Given the description of an element on the screen output the (x, y) to click on. 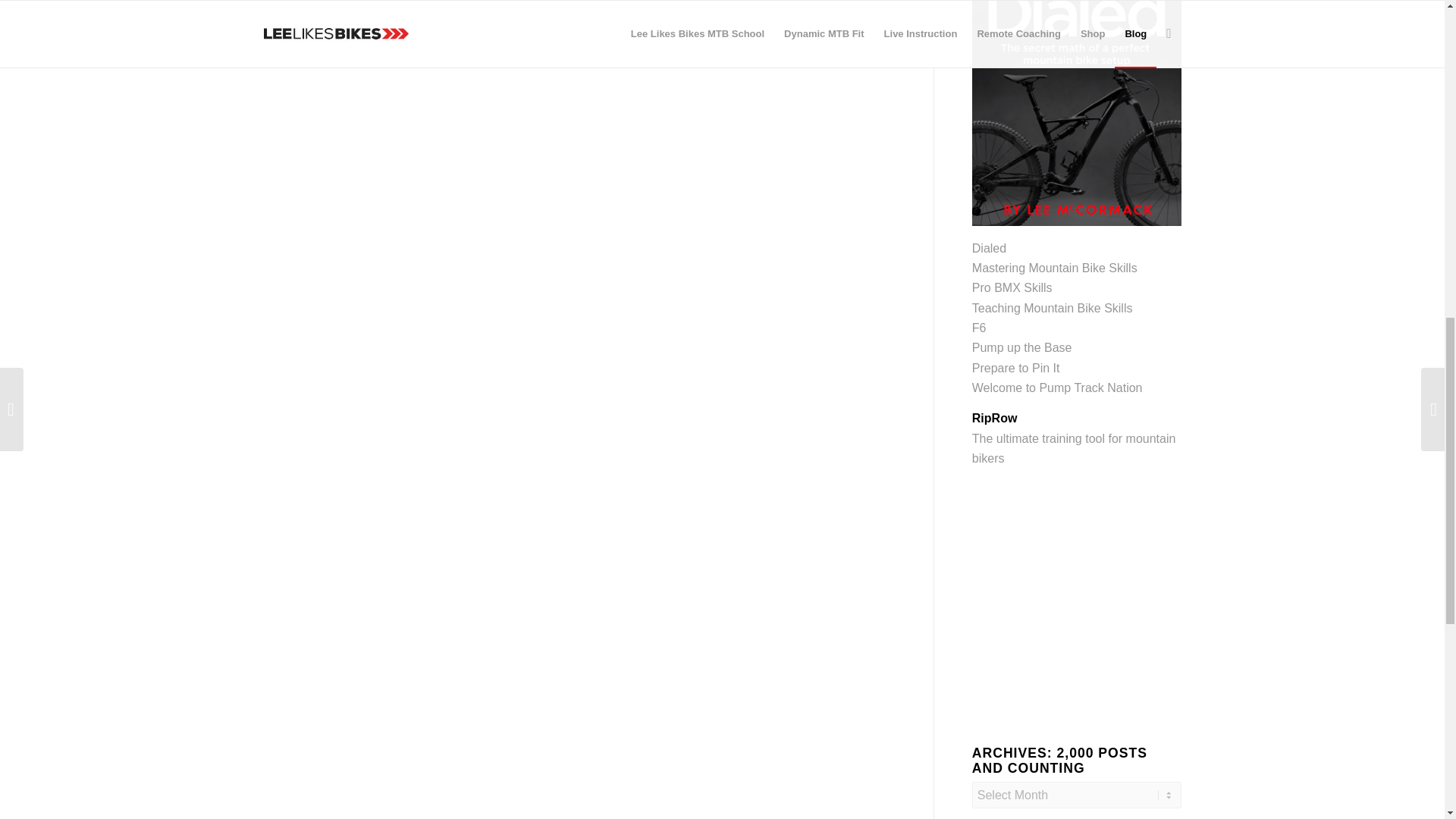
Prepare to Pin It (1015, 367)
F6 (979, 327)
Teaching Mountain Bike Skills (1052, 308)
Welcome to Pump Track Nation (1057, 387)
Dialed (989, 246)
Pro BMX Skills (1012, 287)
Pump up the Base (1021, 347)
Mastering Mountain Bike Skills (1054, 267)
